Given the description of an element on the screen output the (x, y) to click on. 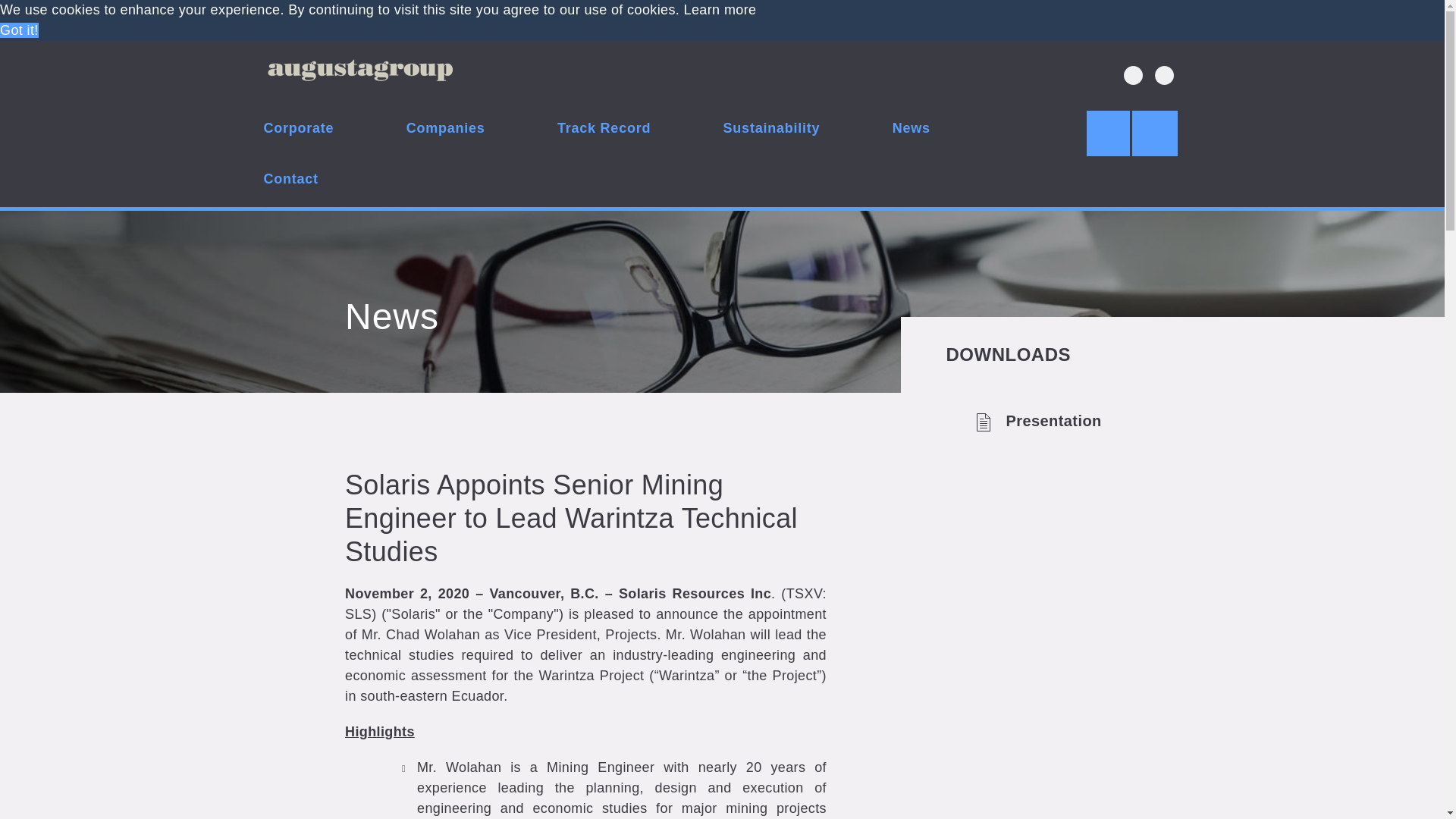
Corporate (298, 130)
Contact (290, 181)
News (910, 130)
Learn more (720, 9)
Sustainability (771, 130)
Companies (445, 130)
Companies (445, 130)
Track Record (603, 130)
Sustainability (771, 130)
Track Record (603, 130)
Return to homepage (358, 72)
Got it! (19, 29)
Twitter (1133, 75)
LinkedIn (1163, 75)
Corporate (298, 130)
